Given the description of an element on the screen output the (x, y) to click on. 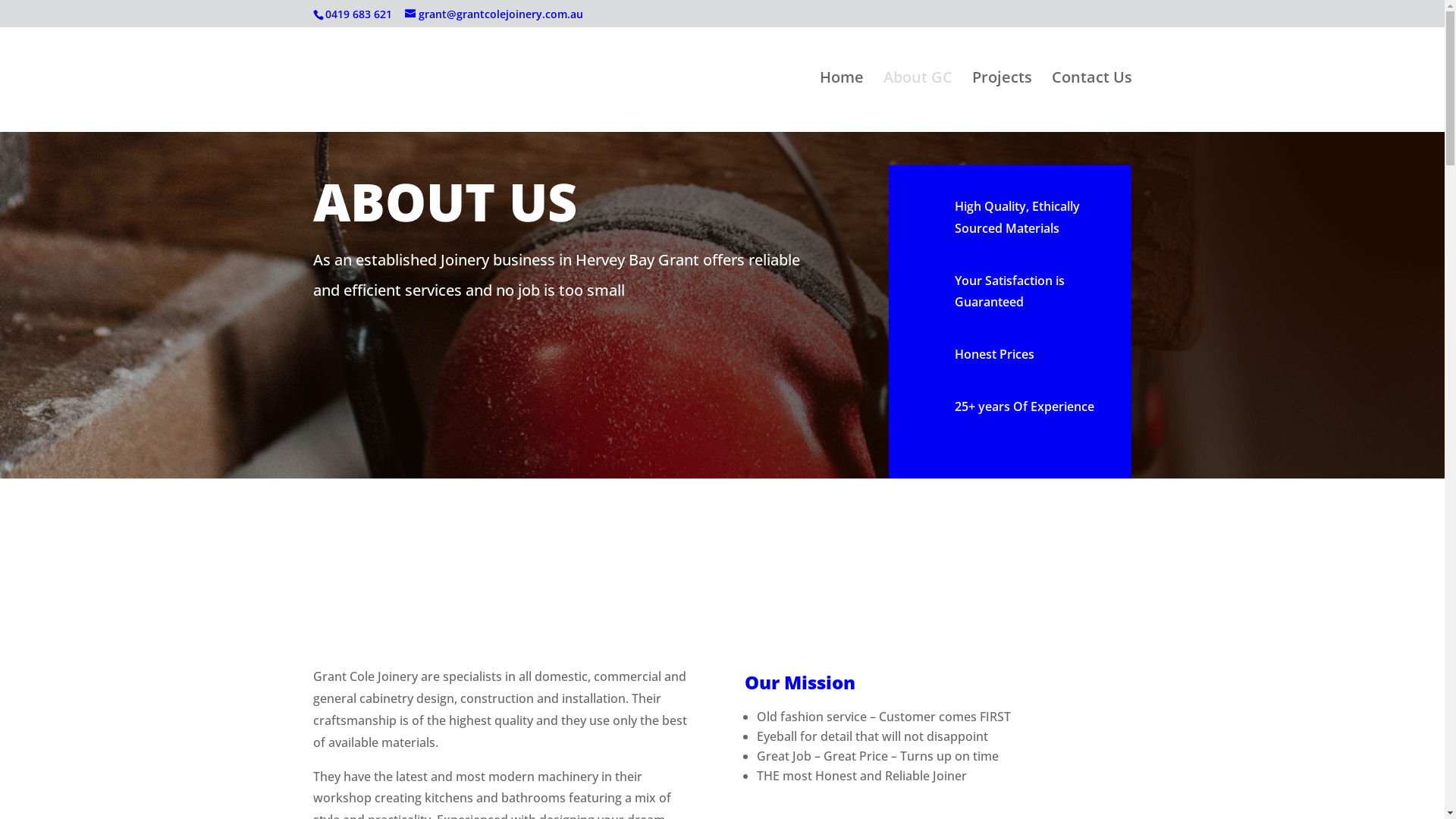
About GC Element type: text (916, 101)
Home Element type: text (840, 101)
Contact Us Element type: text (1091, 101)
Projects Element type: text (1002, 101)
grant@grantcolejoinery.com.au Element type: text (493, 13)
